Given the description of an element on the screen output the (x, y) to click on. 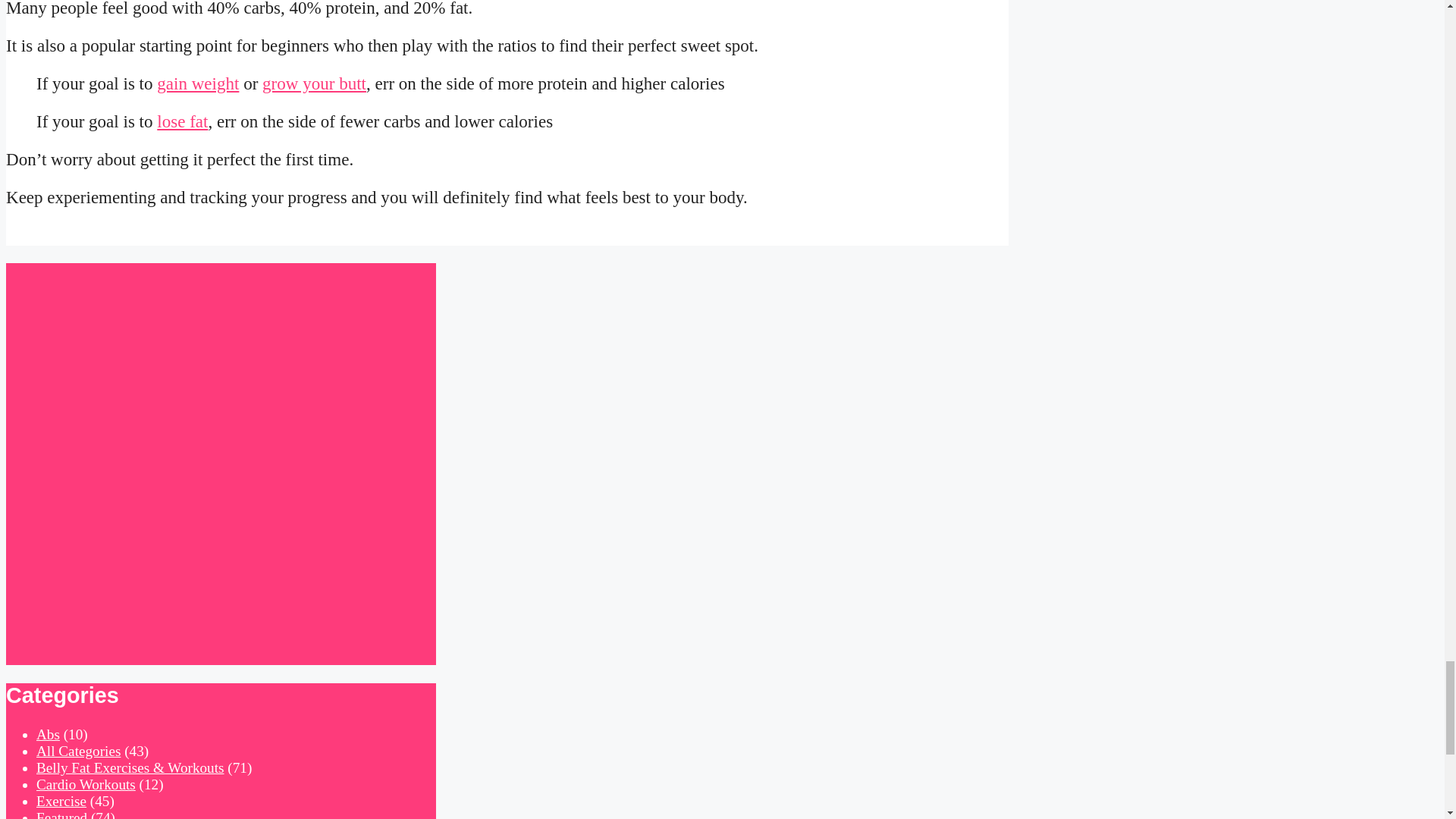
Abs (47, 734)
grow your butt (314, 83)
Exercise (60, 801)
Cardio Workouts (85, 784)
gain weight (197, 83)
Featured (61, 814)
All Categories (78, 750)
lose fat (182, 121)
